Given the description of an element on the screen output the (x, y) to click on. 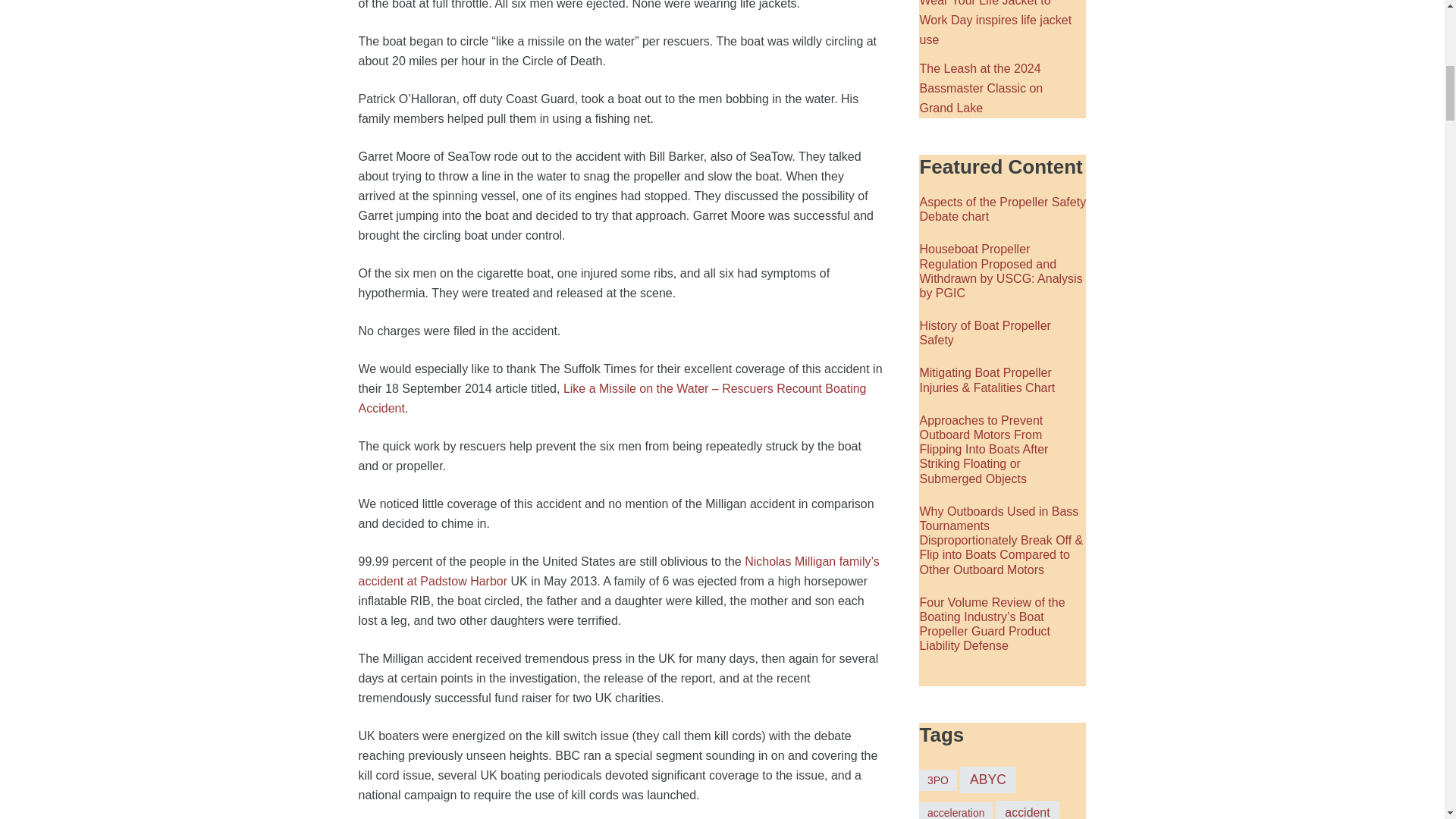
History of Boat Propeller Safety (983, 332)
Houseboat Propeller Safety Regulation Analysis by PGIC (999, 270)
Aspects of the Propeller Safety Debate chart (1002, 208)
